Given the description of an element on the screen output the (x, y) to click on. 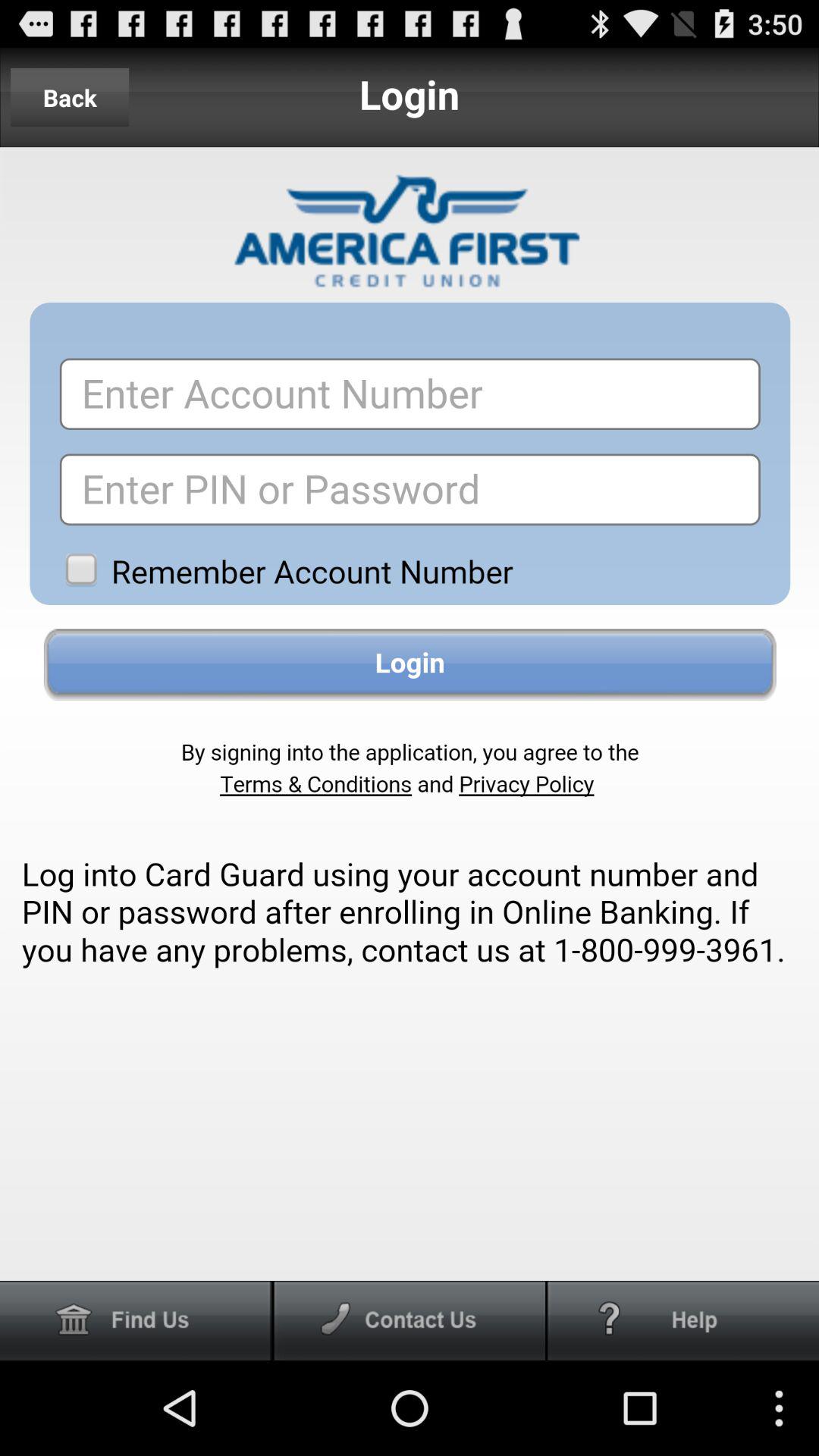
delete the option (135, 1320)
